Given the description of an element on the screen output the (x, y) to click on. 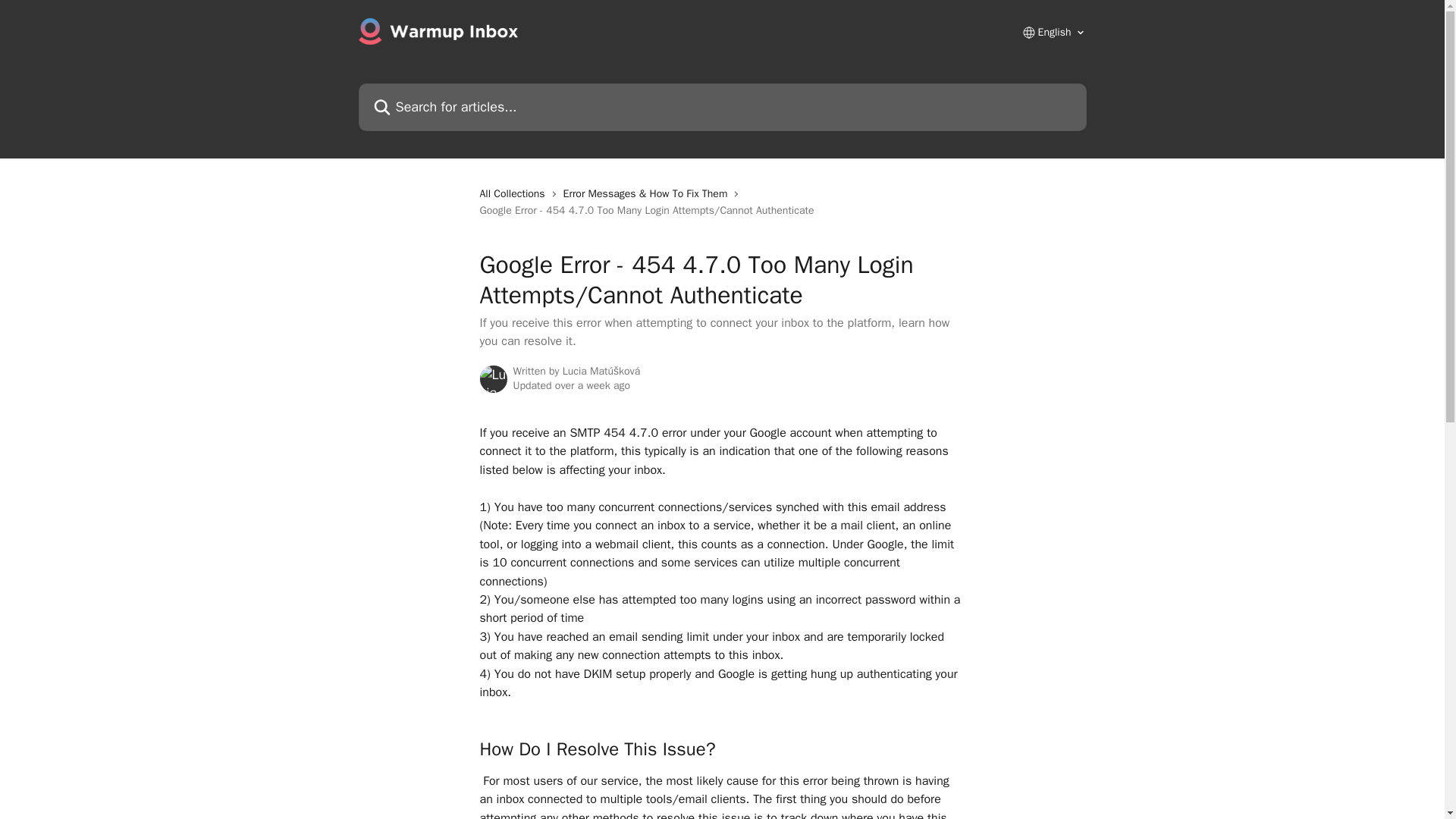
All Collections (514, 193)
